Given the description of an element on the screen output the (x, y) to click on. 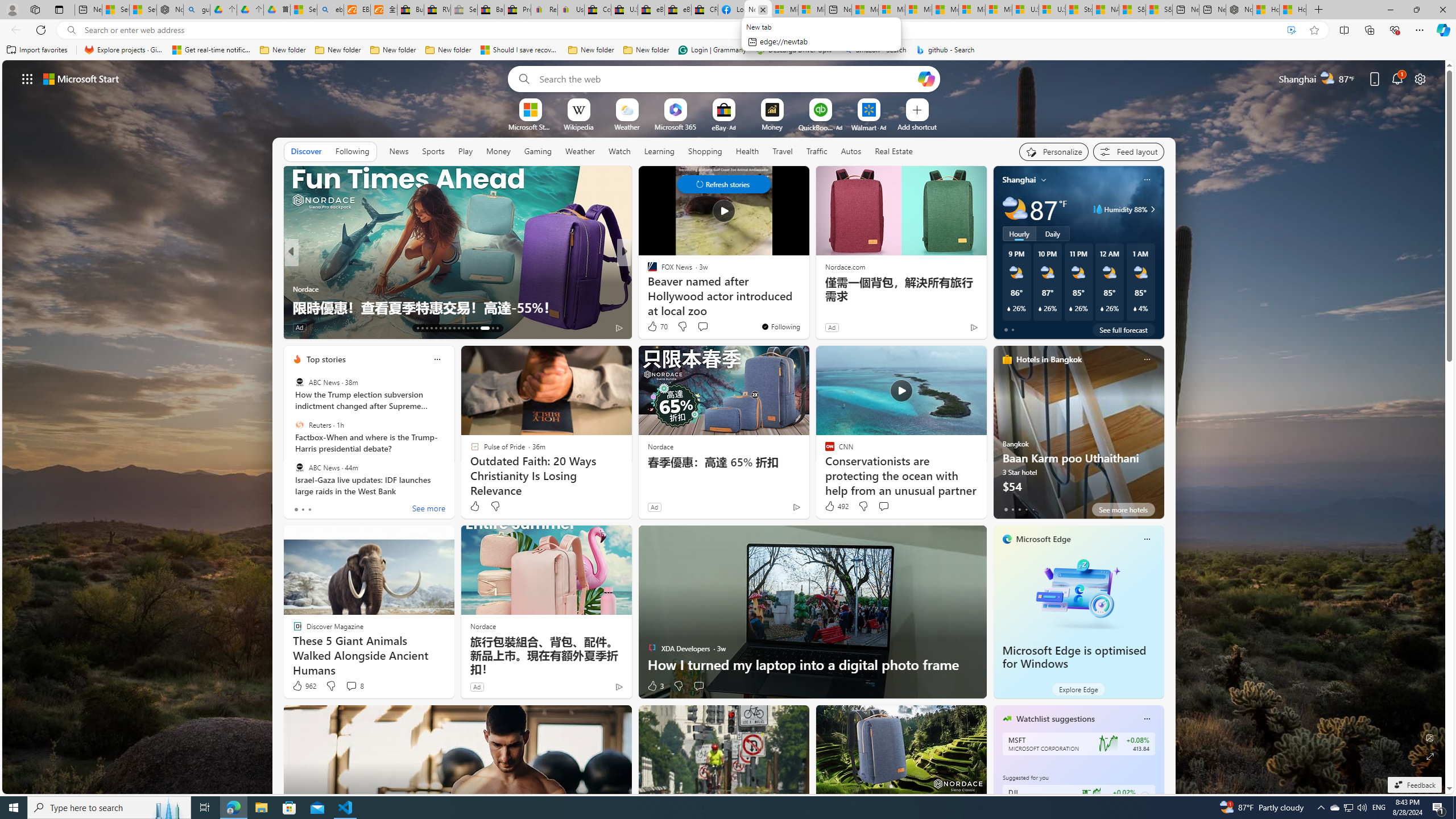
My location (1043, 179)
